Given the description of an element on the screen output the (x, y) to click on. 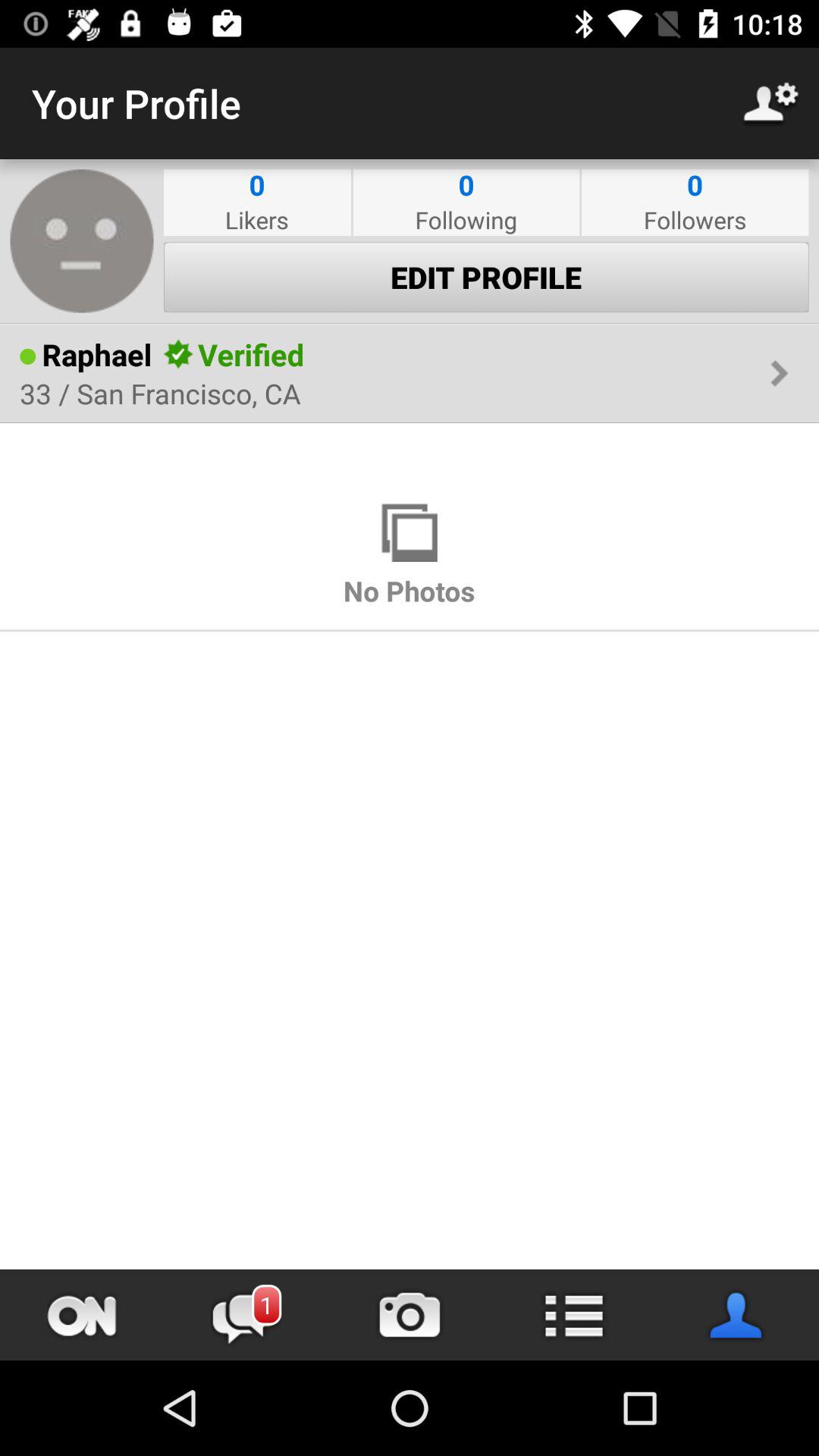
click icon below the 0 item (694, 219)
